Given the description of an element on the screen output the (x, y) to click on. 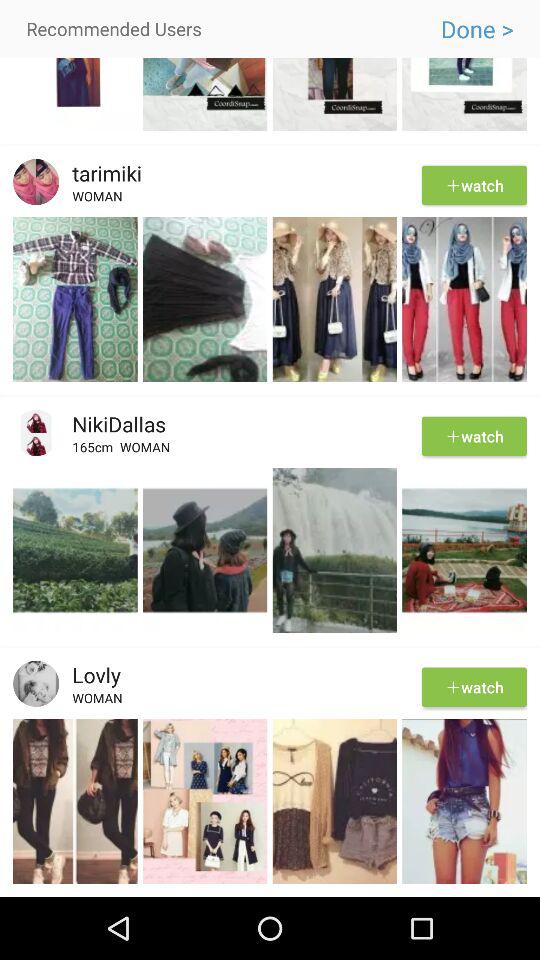
press app below woman (269, 214)
